Given the description of an element on the screen output the (x, y) to click on. 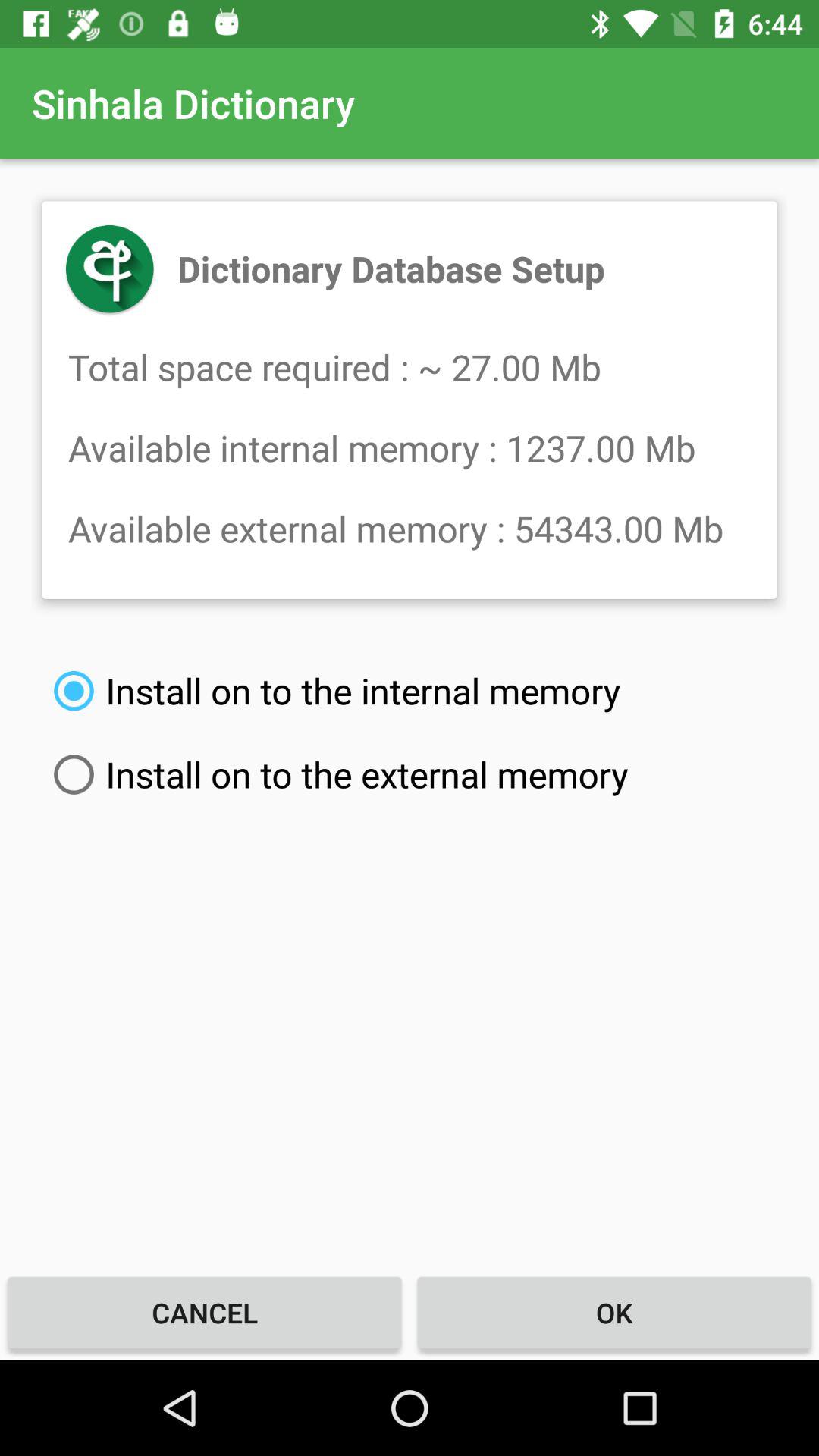
tap icon below install on to icon (614, 1312)
